Given the description of an element on the screen output the (x, y) to click on. 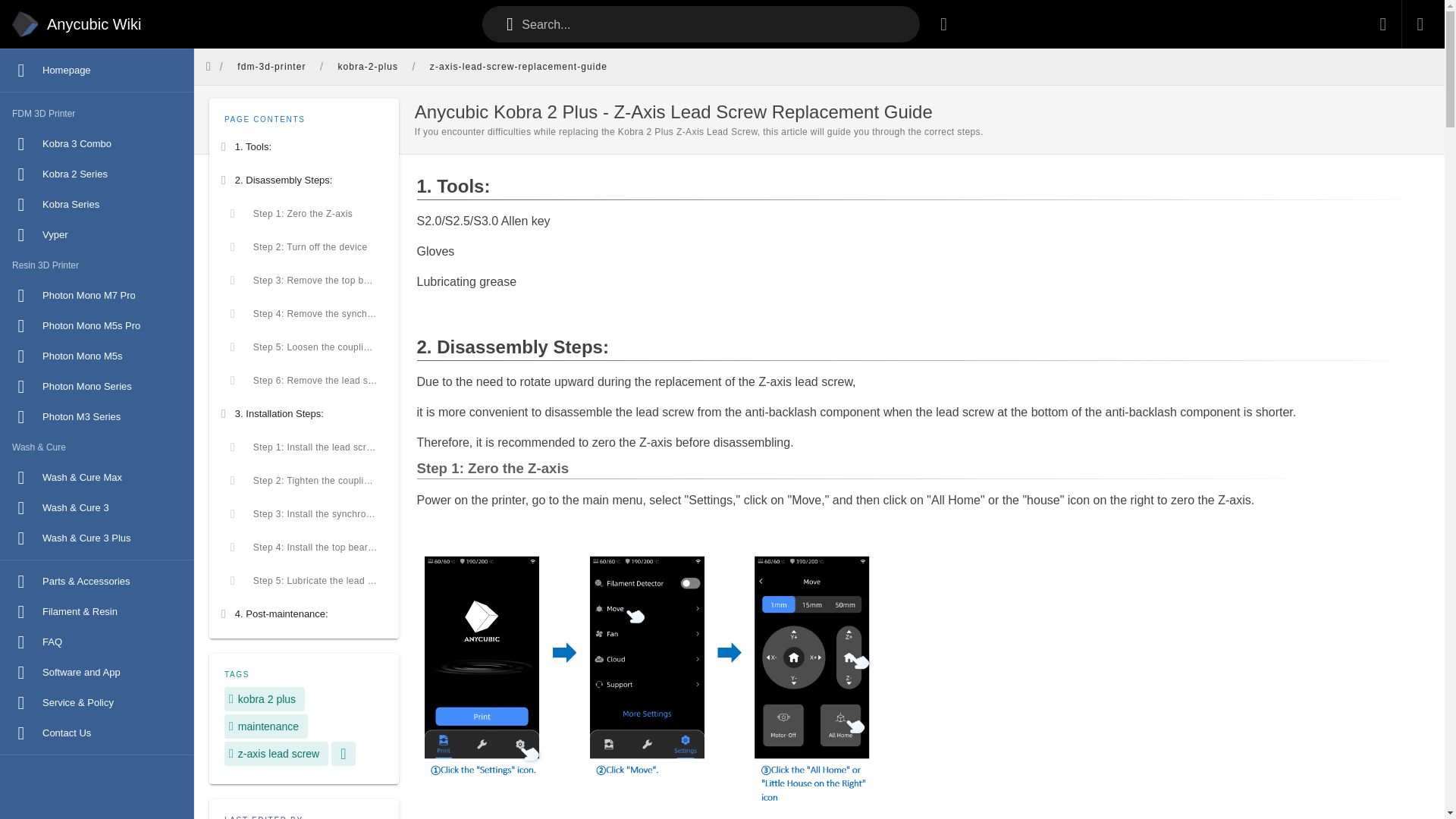
Photon Mono Series (96, 386)
fdm-3d-printer (271, 66)
Vyper (96, 235)
kobra 2 plus (264, 699)
Contact Us (96, 733)
Software and App (96, 672)
z-axis-lead-screw-replacement-guide (517, 66)
kobra-2-plus (367, 66)
Photon M3 Series (96, 417)
maintenance (265, 726)
